Given the description of an element on the screen output the (x, y) to click on. 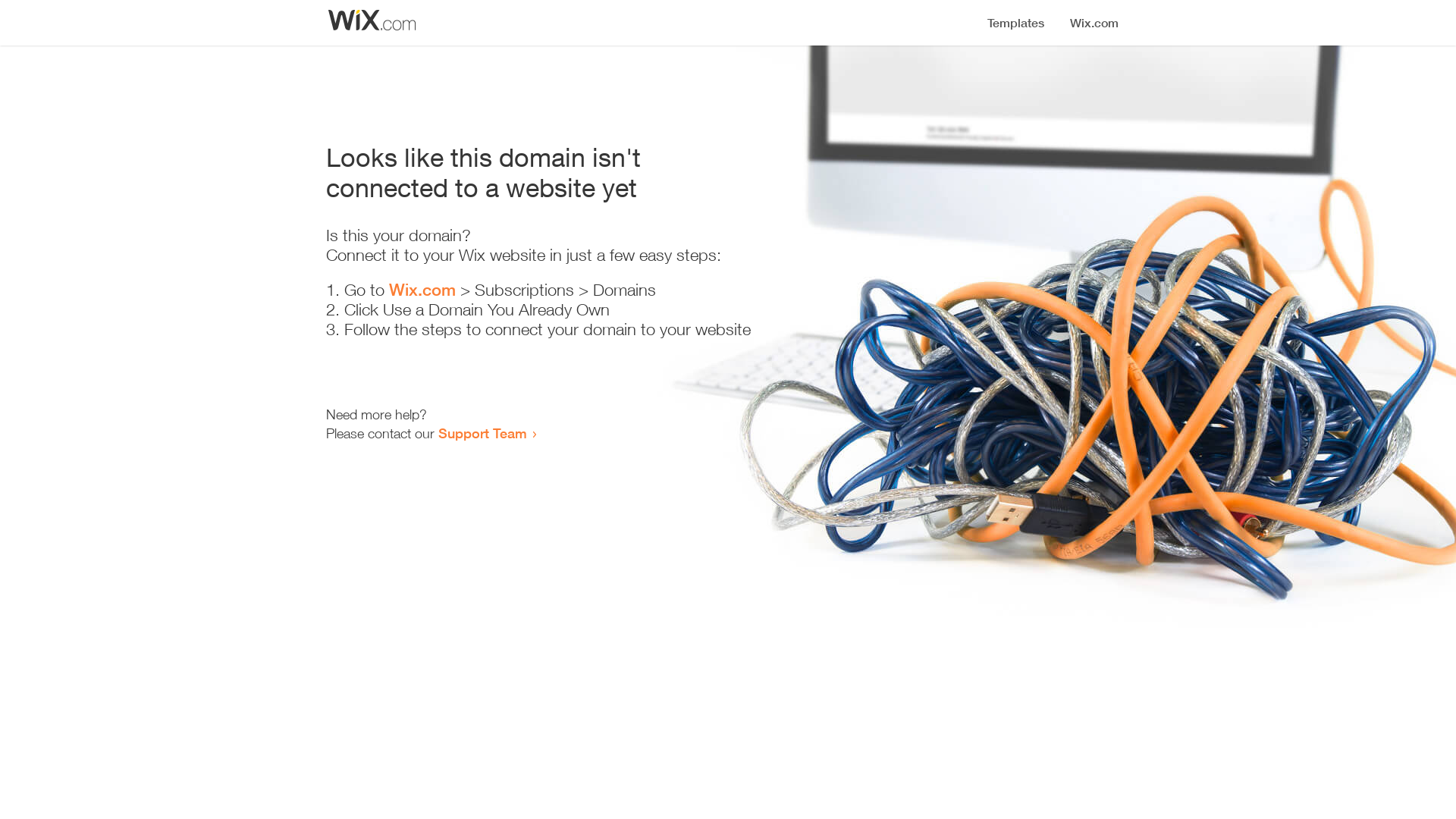
Support Team Element type: text (482, 432)
Wix.com Element type: text (422, 289)
